Given the description of an element on the screen output the (x, y) to click on. 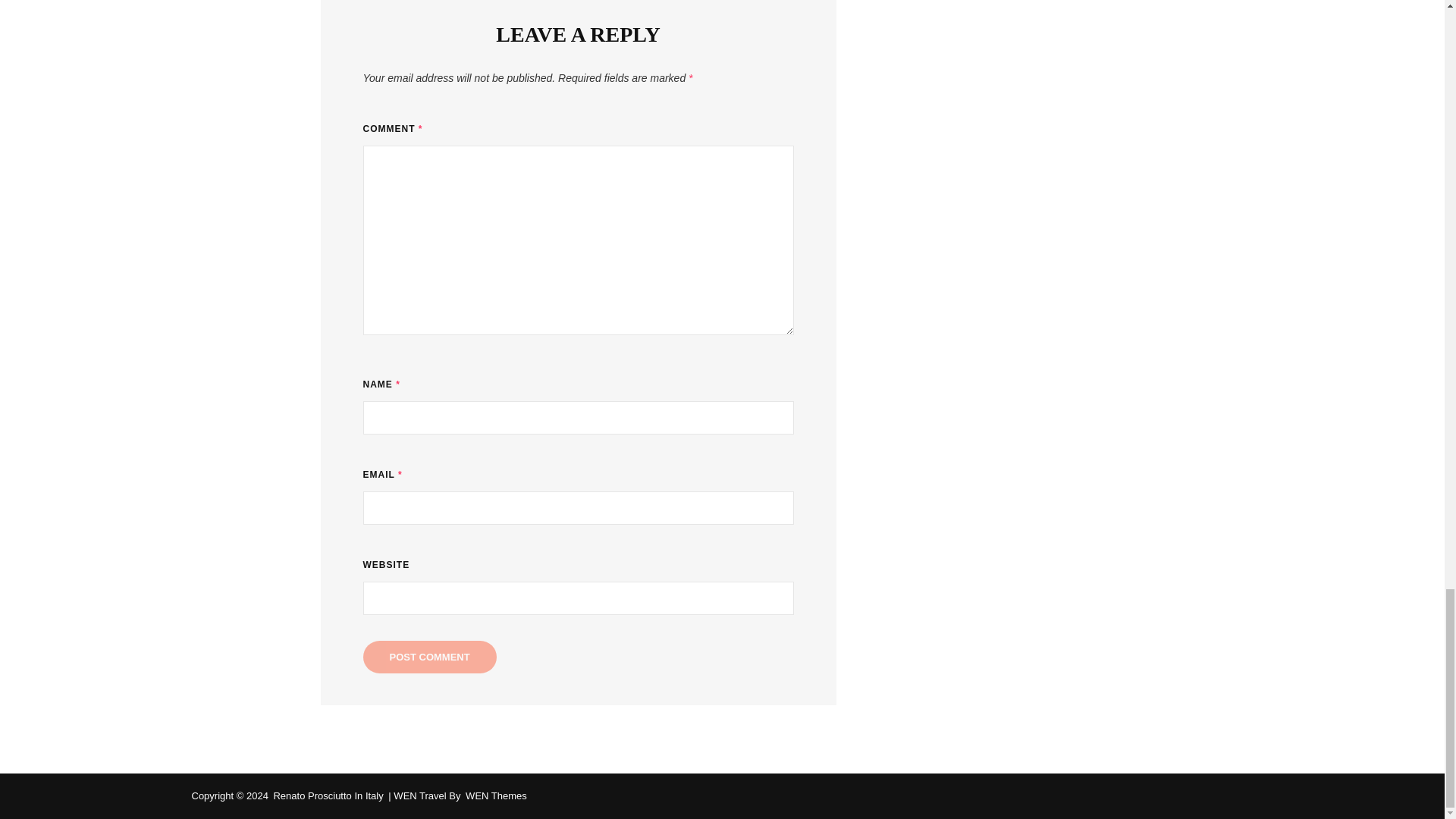
Post Comment (429, 656)
